Given the description of an element on the screen output the (x, y) to click on. 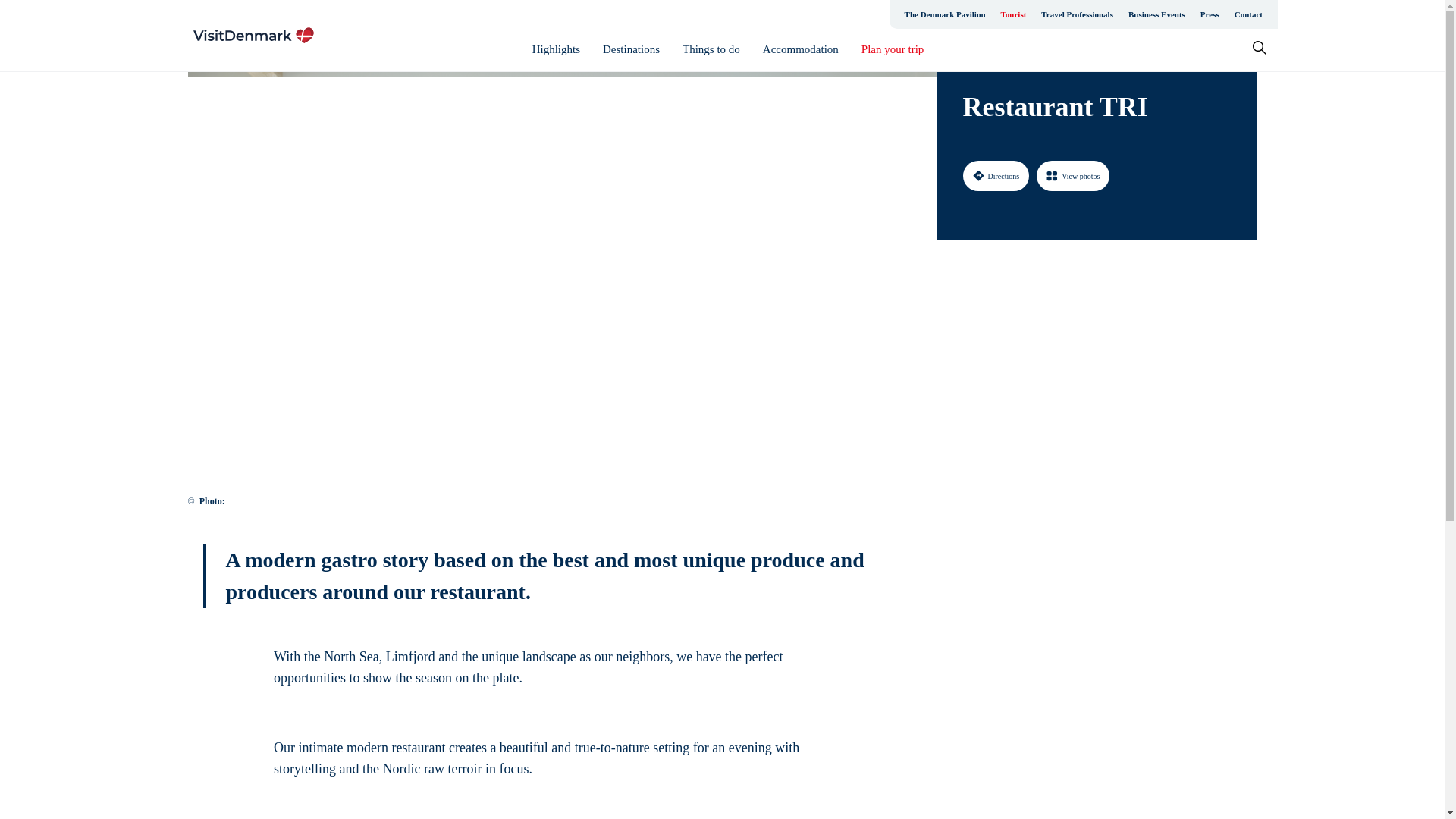
Directions (995, 175)
Highlights (555, 49)
Tourist (1012, 14)
The Denmark Pavilion (944, 14)
Contact (1248, 14)
Go to homepage (253, 35)
Plan your trip (892, 49)
Travel Professionals (1077, 14)
Business Events (1156, 14)
Accommodation (800, 49)
